Given the description of an element on the screen output the (x, y) to click on. 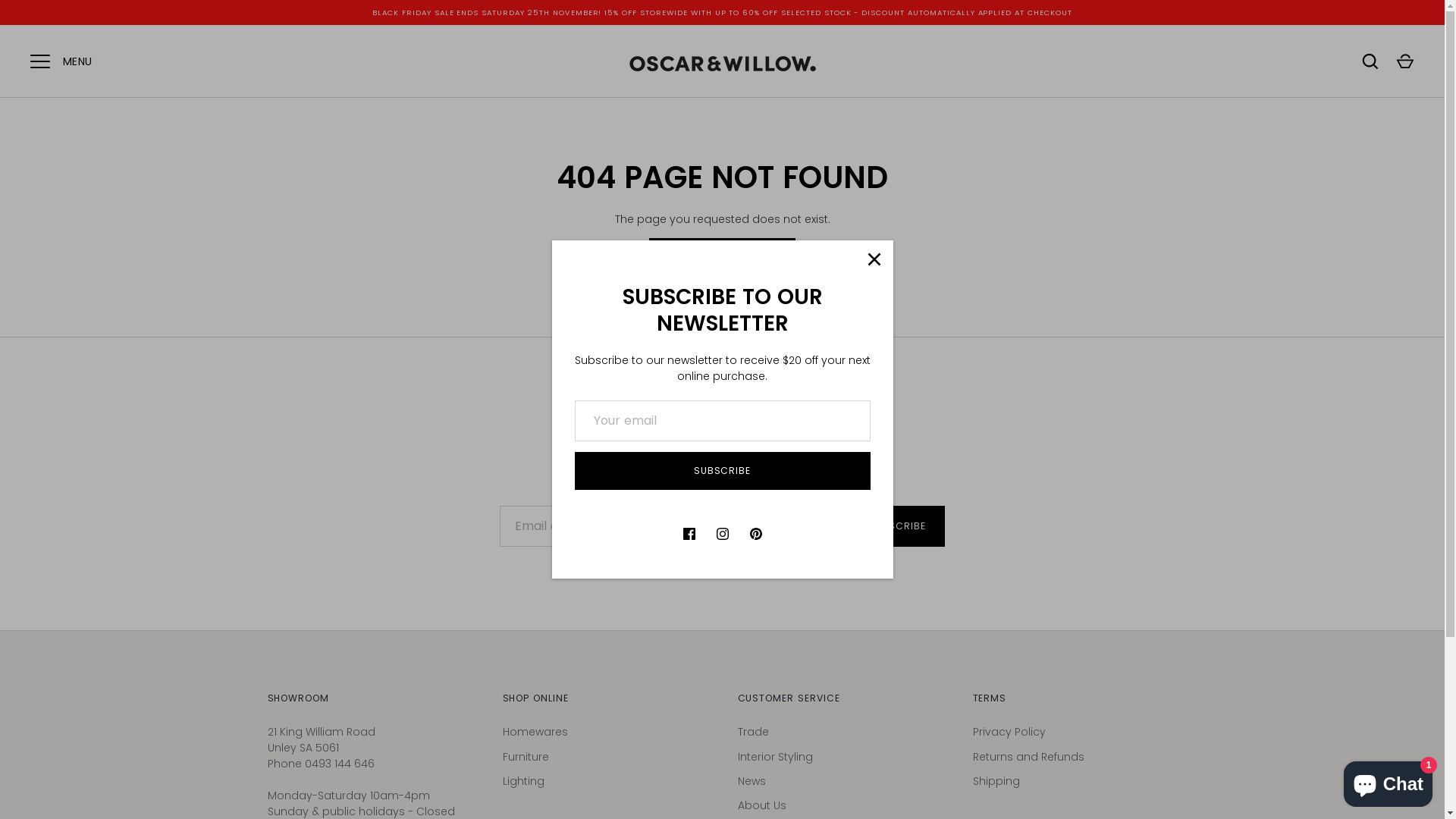
Homewares Element type: text (534, 731)
Shipping Element type: text (995, 780)
MENU Element type: text (39, 61)
Trade Element type: text (752, 731)
CONTINUE SHOPPING Element type: text (722, 257)
About Us Element type: text (761, 804)
Returns and Refunds Element type: text (1027, 756)
Shopify online store chat Element type: hover (1388, 780)
Privacy Policy Element type: text (1008, 731)
Interior Styling Element type: text (774, 756)
SUBSCRIBE Element type: text (722, 470)
News Element type: text (751, 780)
SUBSCRIBE Element type: text (896, 525)
Lighting Element type: text (522, 780)
Furniture Element type: text (525, 756)
